Given the description of an element on the screen output the (x, y) to click on. 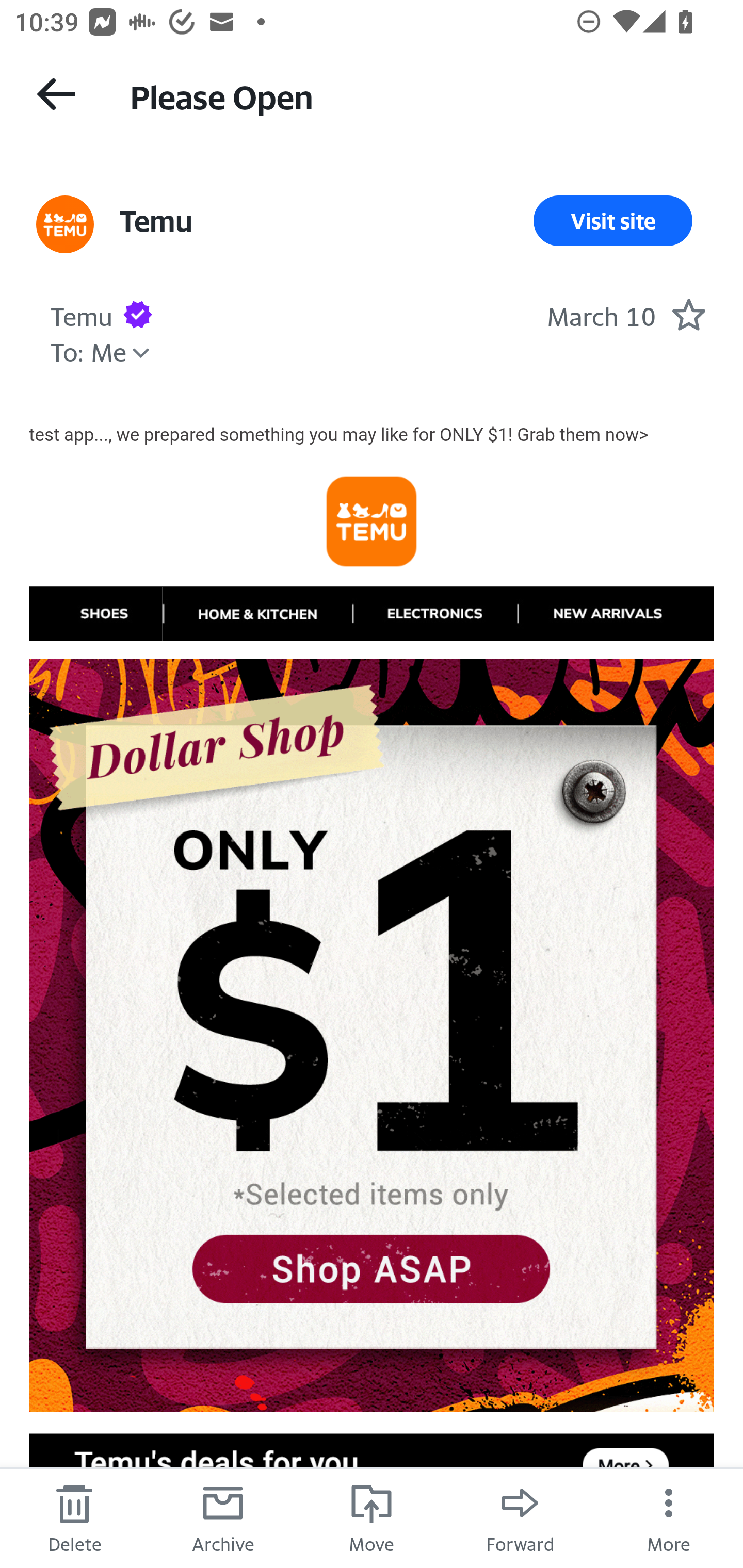
Back (55, 93)
Please Open (418, 94)
View all messages from sender (64, 225)
Visit site Visit Site Link (612, 221)
Temu Sender Temu (155, 220)
Temu Sender Temu (81, 314)
Mark as starred. (688, 314)
Delete (74, 1517)
Archive (222, 1517)
Move (371, 1517)
Forward (519, 1517)
More (668, 1517)
